Given the description of an element on the screen output the (x, y) to click on. 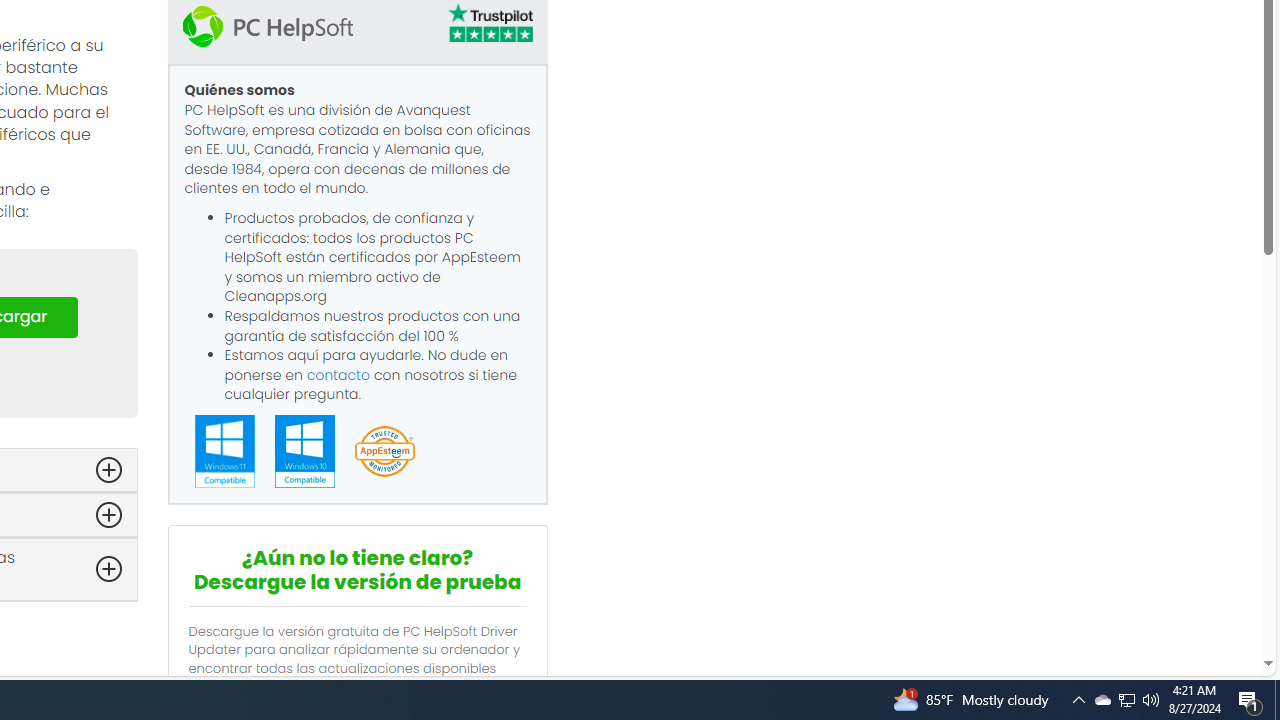
Windows 11 Compatible (224, 450)
App Esteem (384, 452)
Windows 10 Compatible (304, 451)
TrustPilot (489, 22)
PCHelpsoft (267, 25)
contacto (338, 374)
TrustPilot (489, 25)
App Esteem (384, 452)
